Given the description of an element on the screen output the (x, y) to click on. 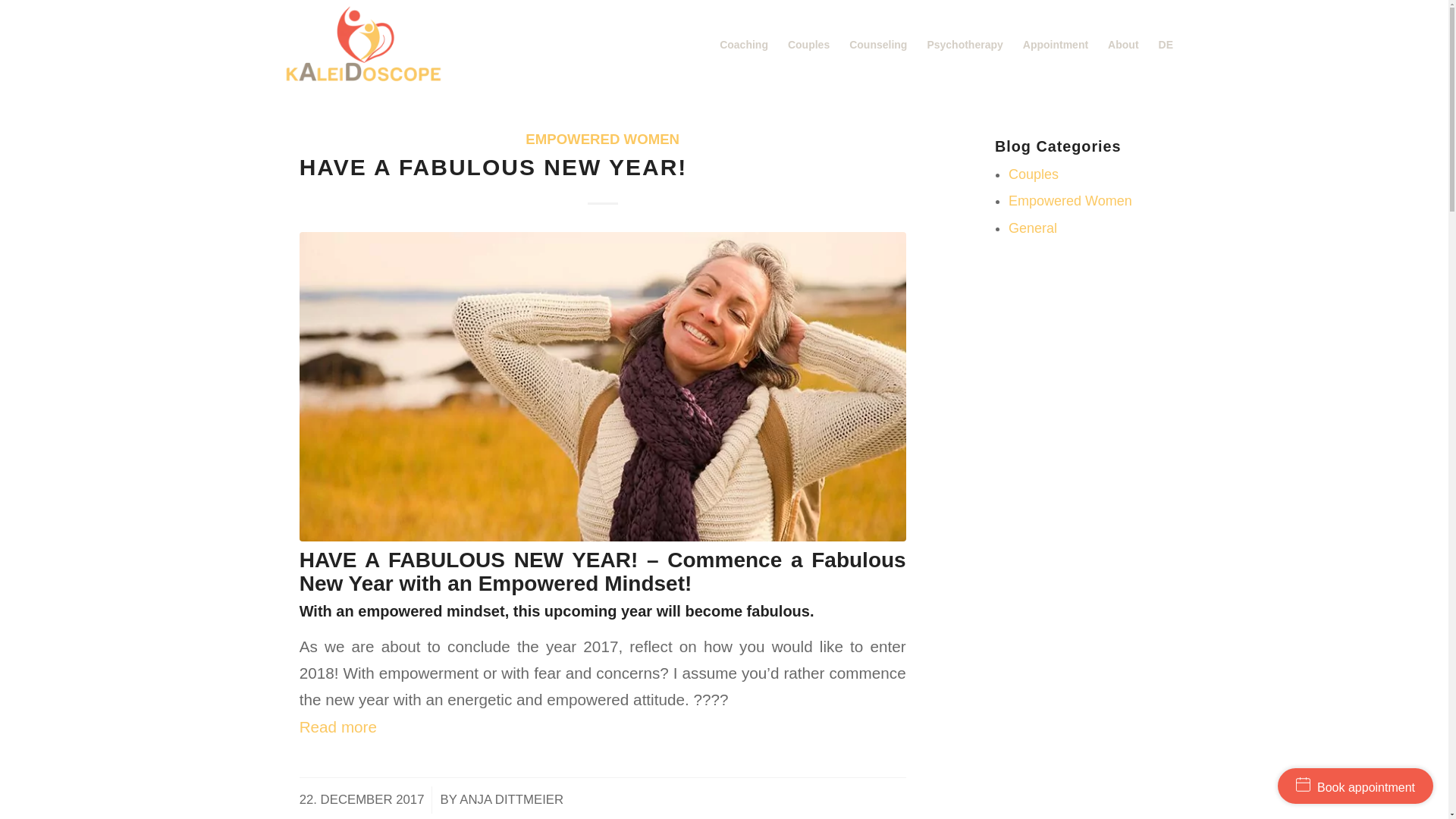
Appointment (1055, 44)
ANJA DITTMEIER (511, 799)
Read more (394, 726)
Psychotherapy (964, 44)
Permanent Link: HAVE A FABULOUS NEW YEAR! (493, 166)
HAVE A FABULOUS NEW YEAR! (493, 166)
EMPOWERED WOMEN (602, 139)
Posts by Anja Dittmeier (511, 799)
